Given the description of an element on the screen output the (x, y) to click on. 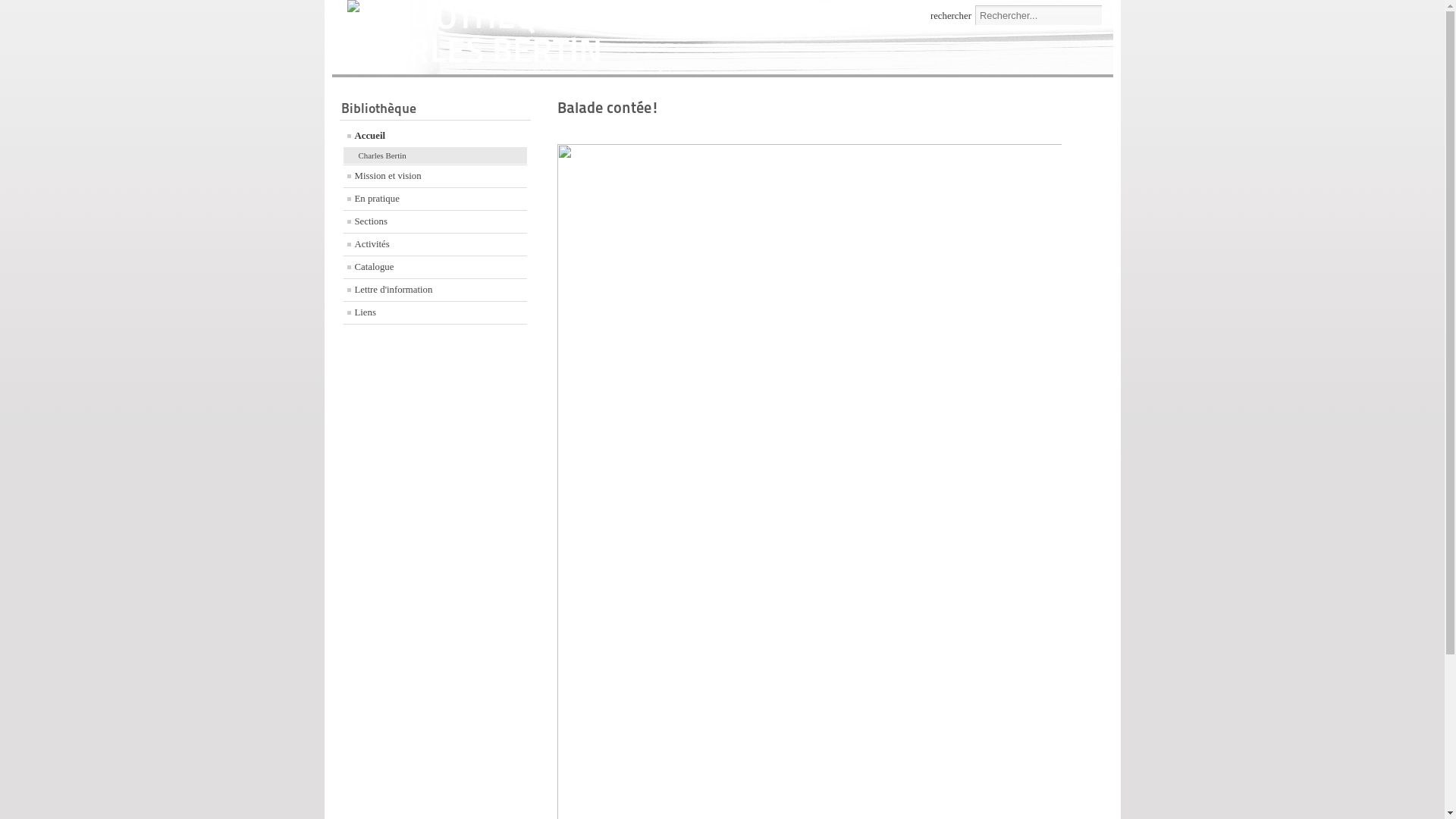
Lettre d'information Element type: text (434, 290)
Accueil Element type: text (434, 136)
Liens Element type: text (434, 312)
Catalogue Element type: text (434, 267)
Mission et vision Element type: text (434, 176)
Charles Bertin Element type: text (434, 155)
Sections Element type: text (434, 221)
En pratique Element type: text (434, 199)
